Given the description of an element on the screen output the (x, y) to click on. 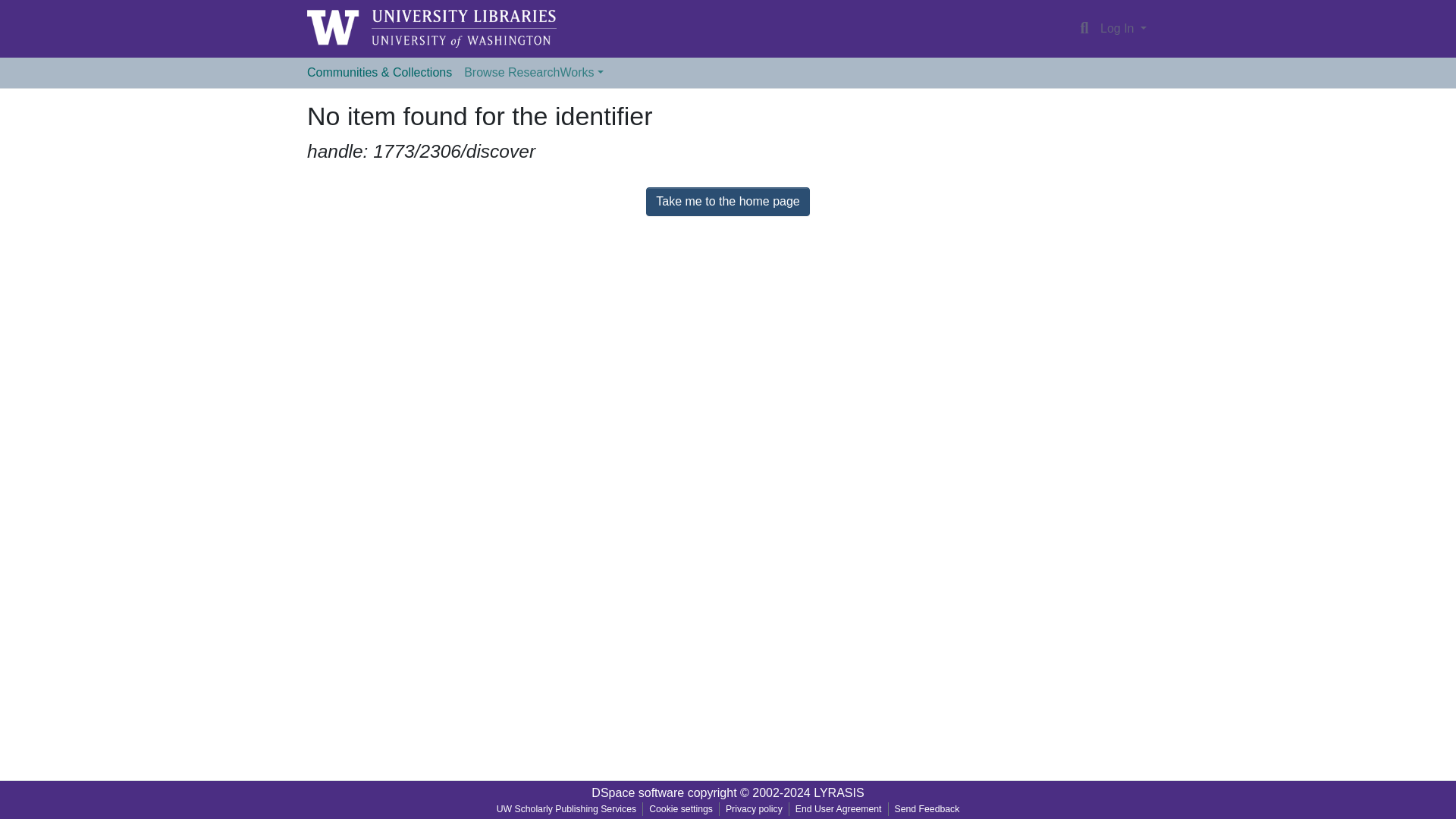
UW Scholarly Publishing Services (566, 808)
Log In (1122, 28)
Privacy policy (754, 808)
DSpace software (637, 792)
Cookie settings (681, 808)
LYRASIS (838, 792)
Take me to the home page (727, 201)
Browse ResearchWorks (533, 72)
Search (1084, 28)
Send Feedback (927, 808)
End User Agreement (838, 808)
